Given the description of an element on the screen output the (x, y) to click on. 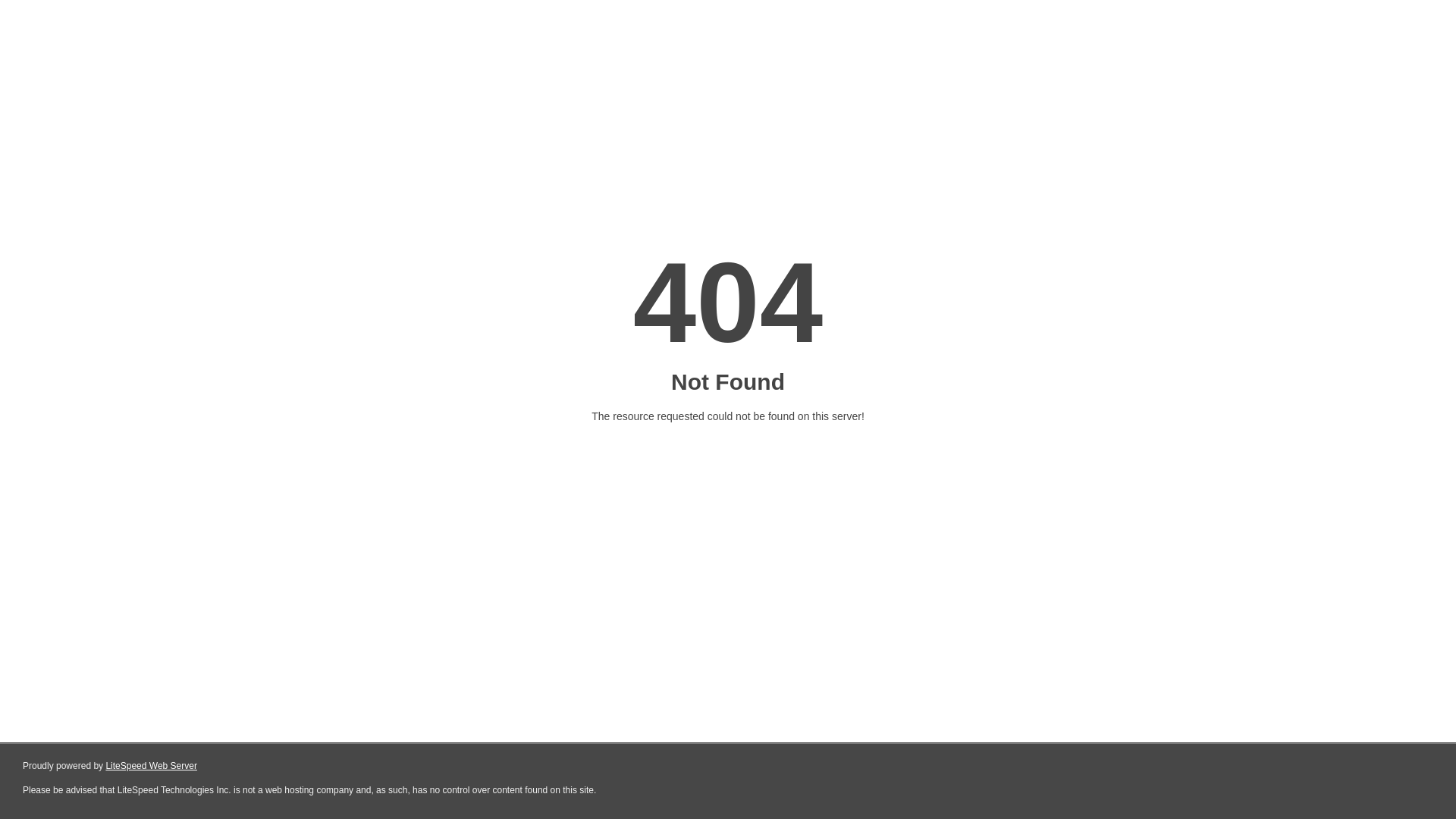
LiteSpeed Web Server Element type: text (151, 765)
